Given the description of an element on the screen output the (x, y) to click on. 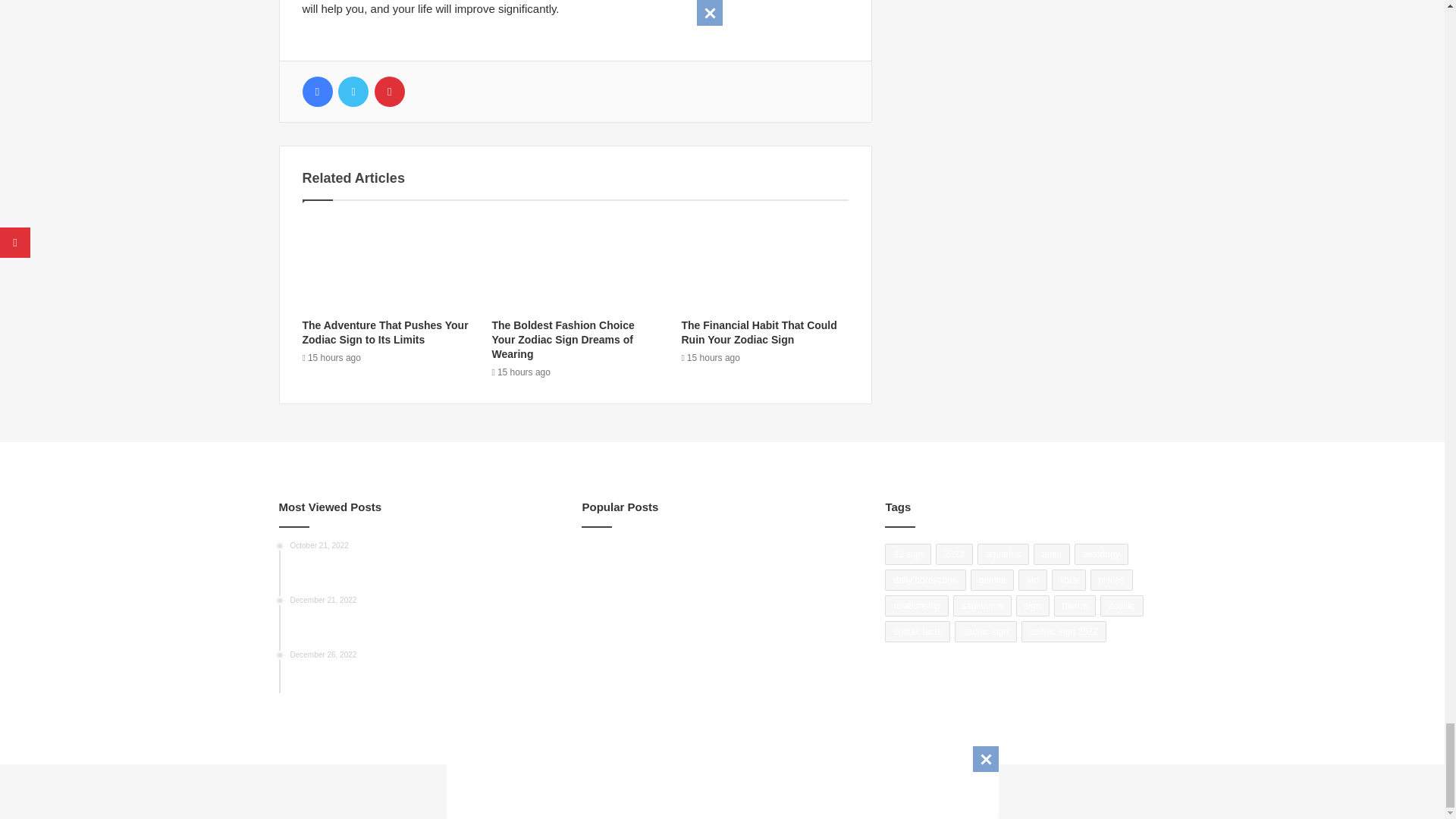
The Adventure That Pushes Your Zodiac Sign to Its Limits (384, 332)
Facebook (316, 91)
Twitter (352, 91)
Facebook (316, 91)
Pinterest (389, 91)
The Financial Habit That Could Ruin Your Zodiac Sign (758, 332)
